Given the description of an element on the screen output the (x, y) to click on. 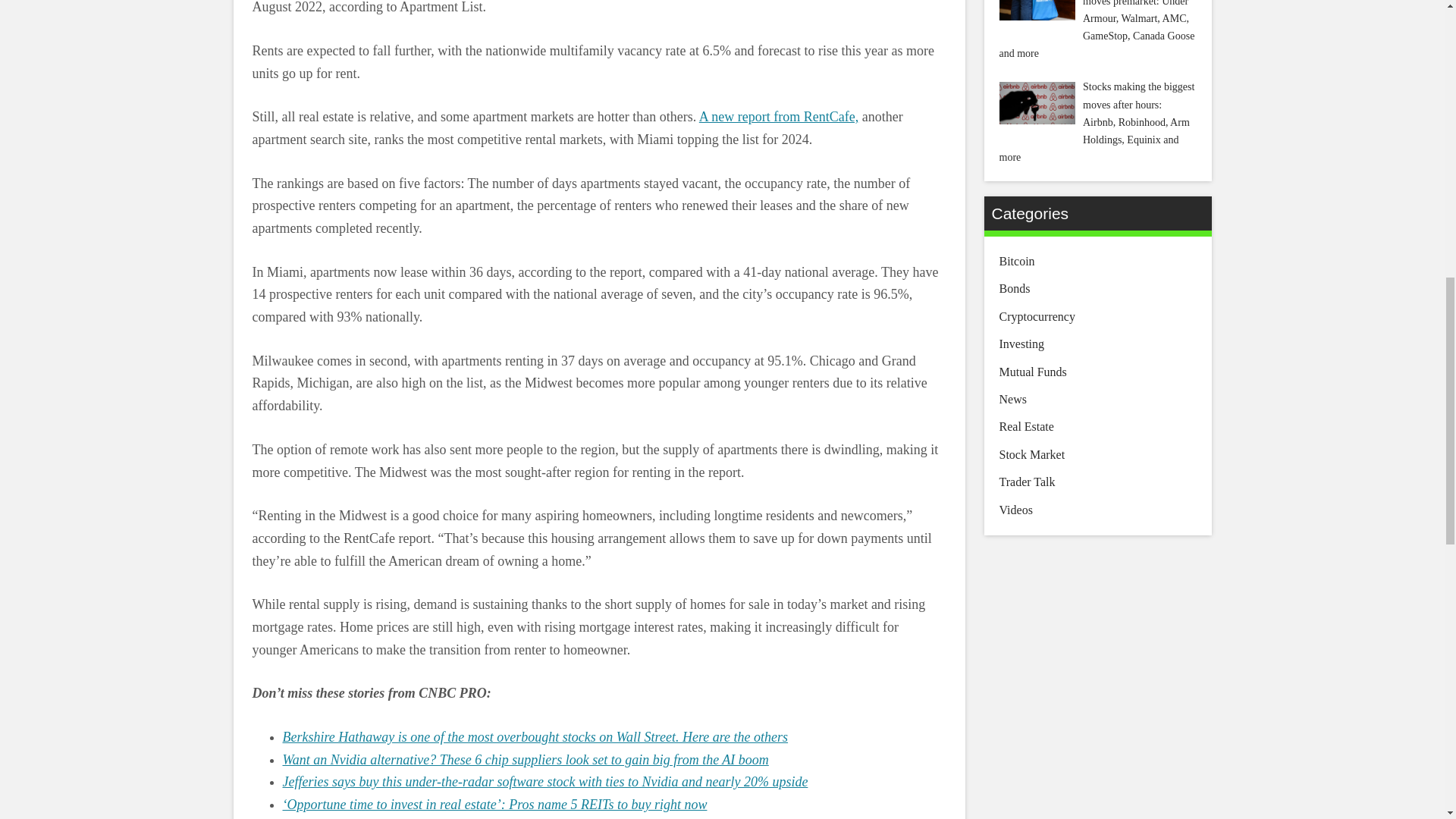
A new report from RentCafe, (778, 116)
